Given the description of an element on the screen output the (x, y) to click on. 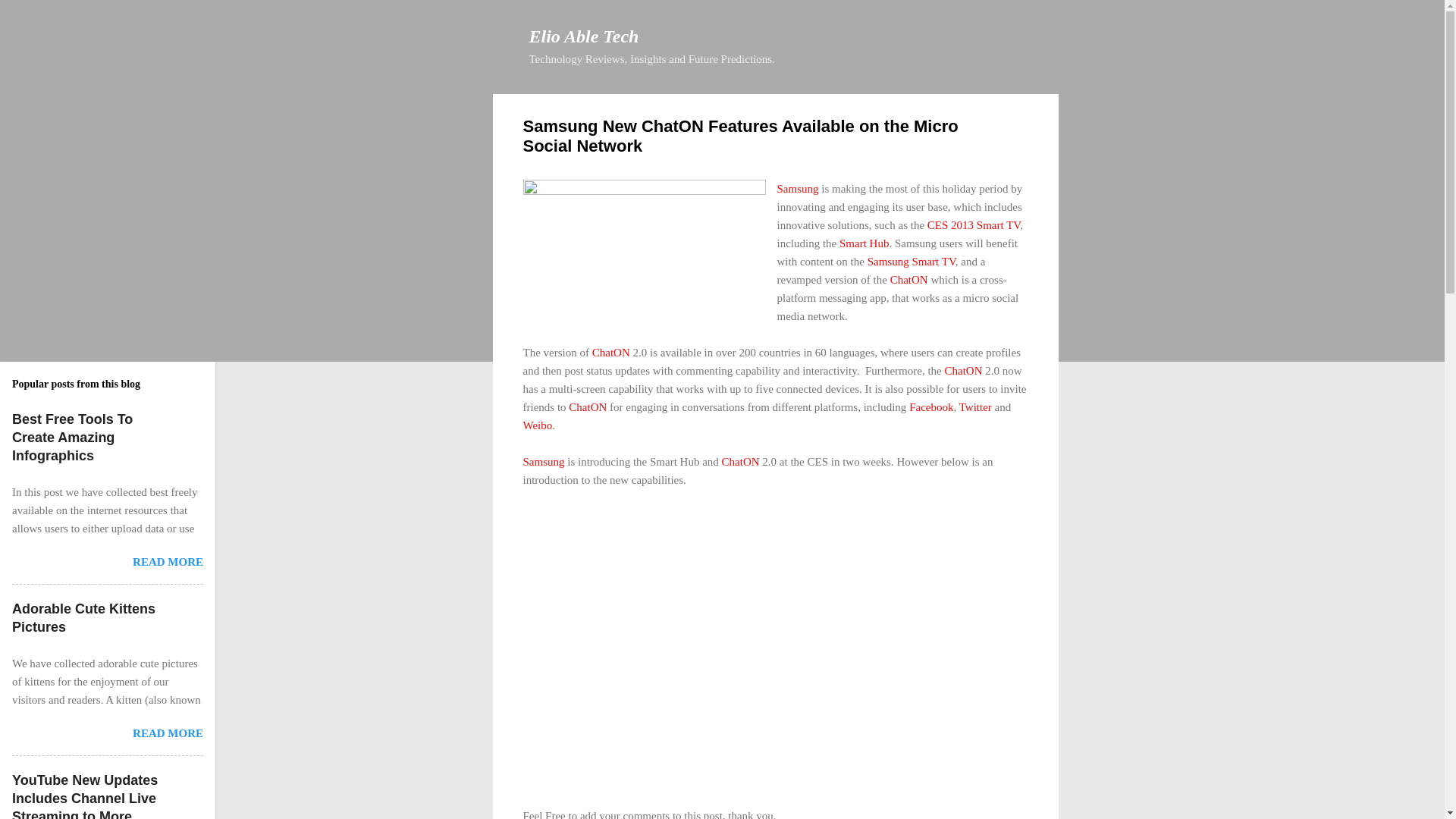
Samsung Smart TV (911, 260)
Weibo (537, 424)
Best Free Tools To Create Amazing Infographics (71, 437)
Samsung (543, 460)
ChatON (908, 278)
Smart Hub (864, 242)
CES 2013 Smart TV (973, 224)
ChatON (611, 351)
Facebook (930, 406)
Twitter (975, 406)
